Given the description of an element on the screen output the (x, y) to click on. 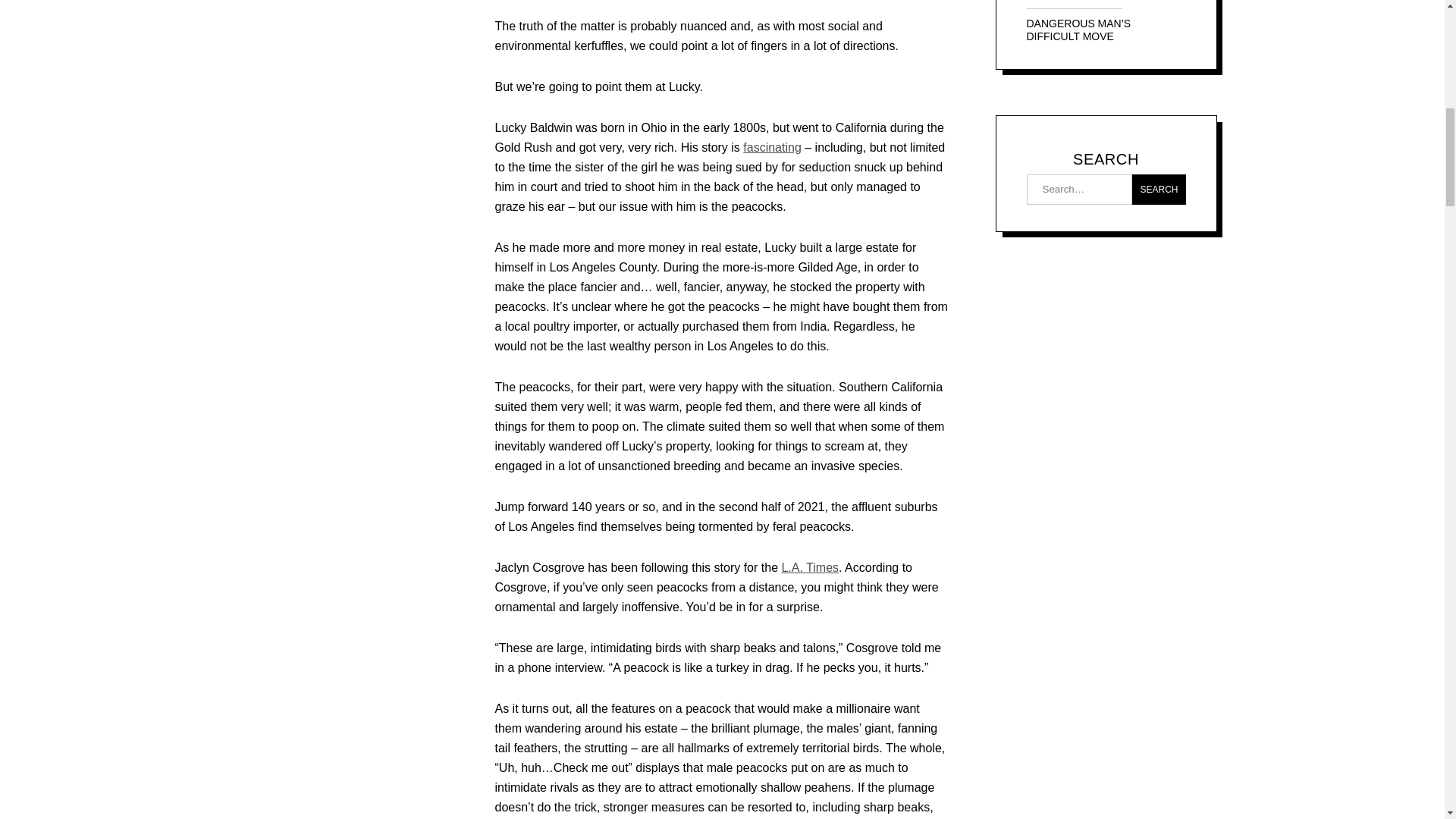
Search (1158, 189)
Search (1158, 189)
fascinating (772, 146)
Search (1158, 189)
L.A. Times (809, 567)
